Given the description of an element on the screen output the (x, y) to click on. 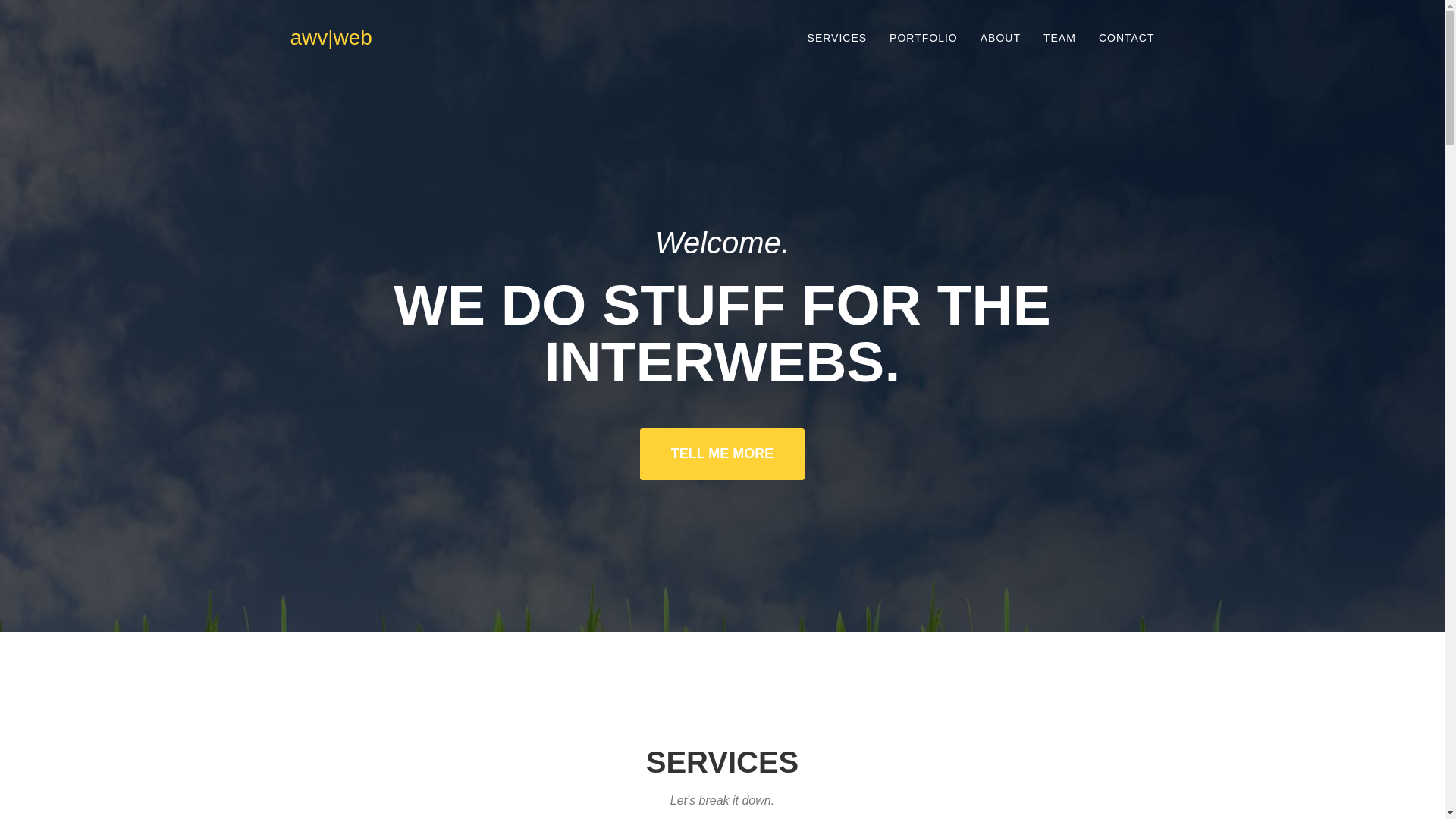
TEAM (1059, 37)
CONTACT (1126, 37)
SERVICES (837, 37)
TELL ME MORE (722, 453)
PORTFOLIO (923, 37)
ABOUT (1000, 37)
PORTFOLIO (923, 37)
ABOUT (1000, 37)
SERVICES (837, 37)
TEAM (1059, 37)
